Given the description of an element on the screen output the (x, y) to click on. 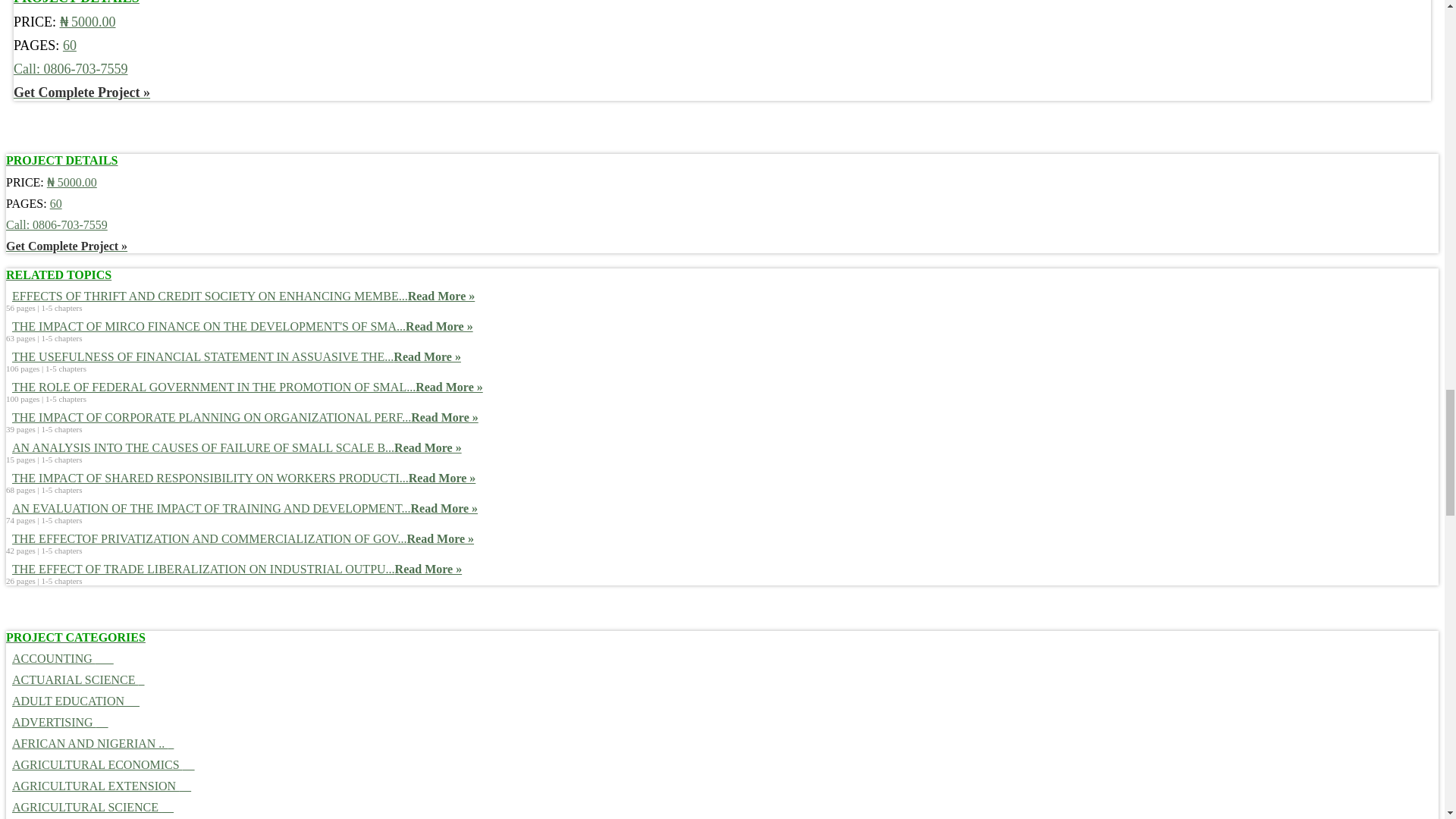
ACCOUNTING PROJECT TOPICS AND RESEARCH MATERIALS (59, 658)
ADVERTISING PROJECT TOPICS AND RESEARCH MATERIALS (56, 721)
AGRICULTURAL SCIENCE PROJECT TOPICS AND RESEARCH MATERIALS (89, 807)
AGRICULTURAL ECONOMICS PROJECT TOPICS AND RESEARCH MATERIALS (100, 764)
ADULT EDUCATION PROJECT TOPICS AND RESEARCH MATERIALS (72, 700)
PROJECT DETAILS (76, 4)
ACTUARIAL SCIENCE PROJECT TOPICS AND RESEARCH MATERIALS (74, 679)
60 (69, 45)
Call: 0806-703-7559 (70, 68)
